Given the description of an element on the screen output the (x, y) to click on. 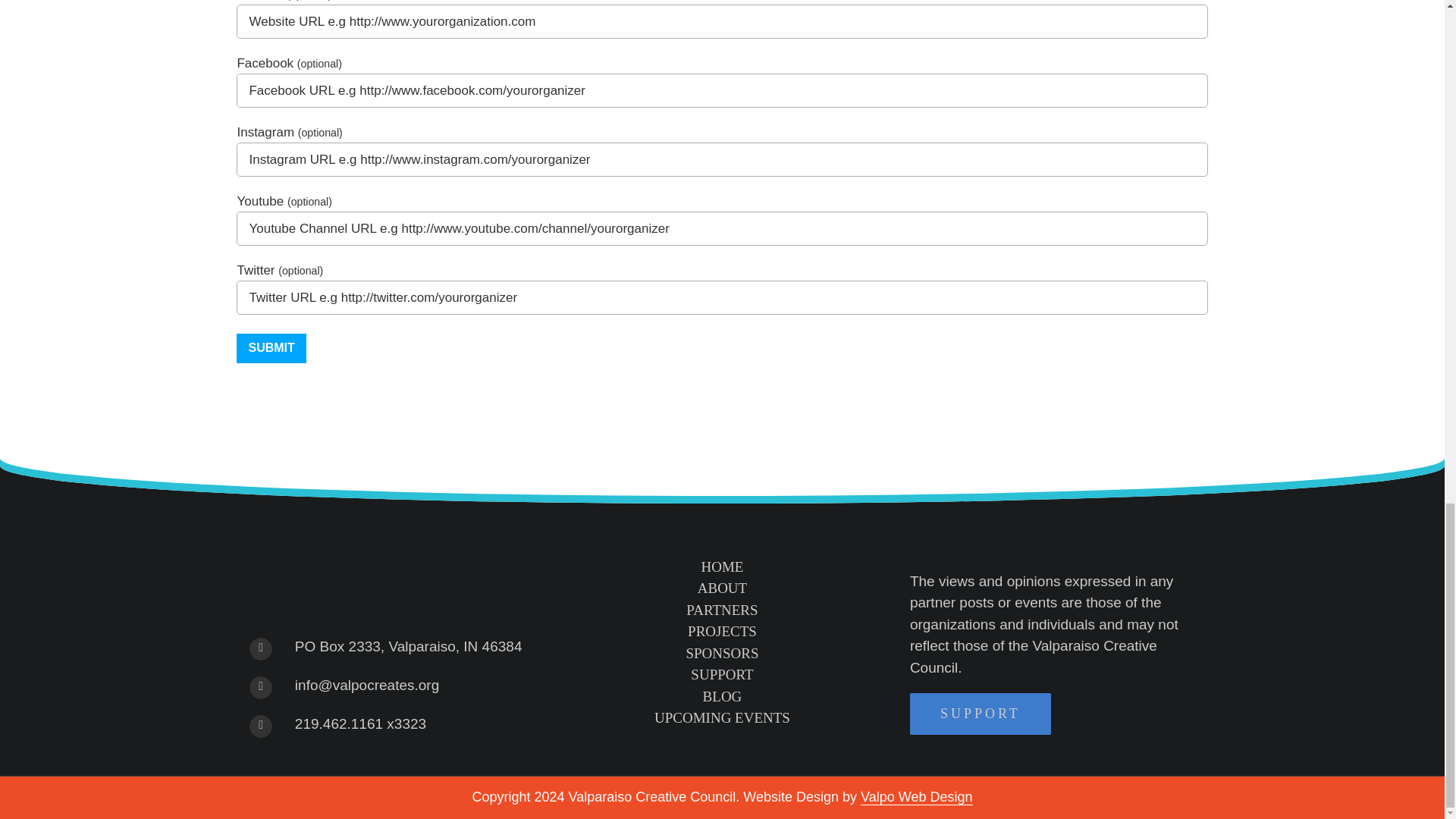
Submit (270, 348)
